Given the description of an element on the screen output the (x, y) to click on. 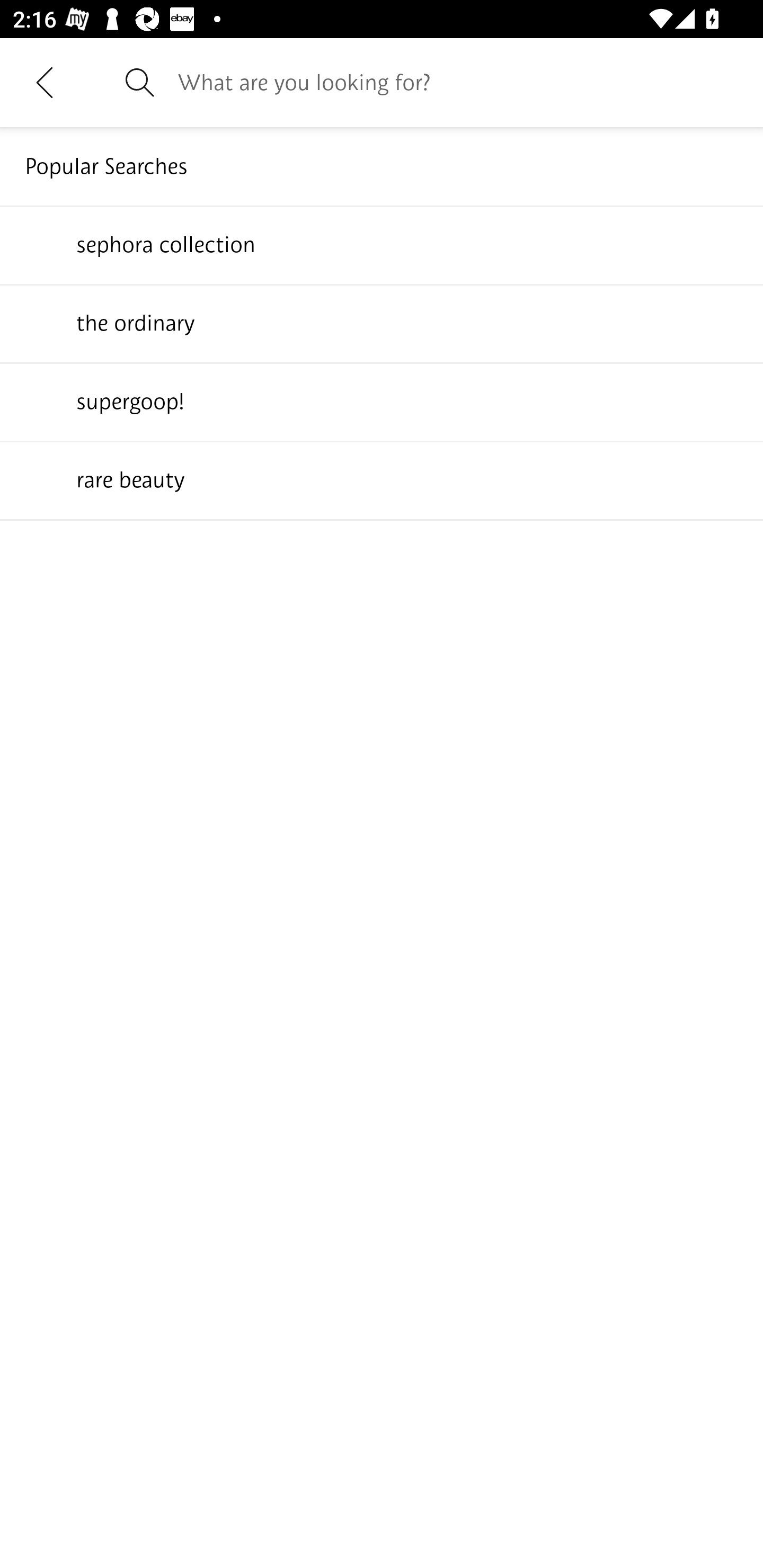
Navigate up (44, 82)
What are you looking for? (457, 82)
sephora collection (381, 244)
the ordinary (381, 322)
supergoop! (381, 401)
rare beauty (381, 479)
